Given the description of an element on the screen output the (x, y) to click on. 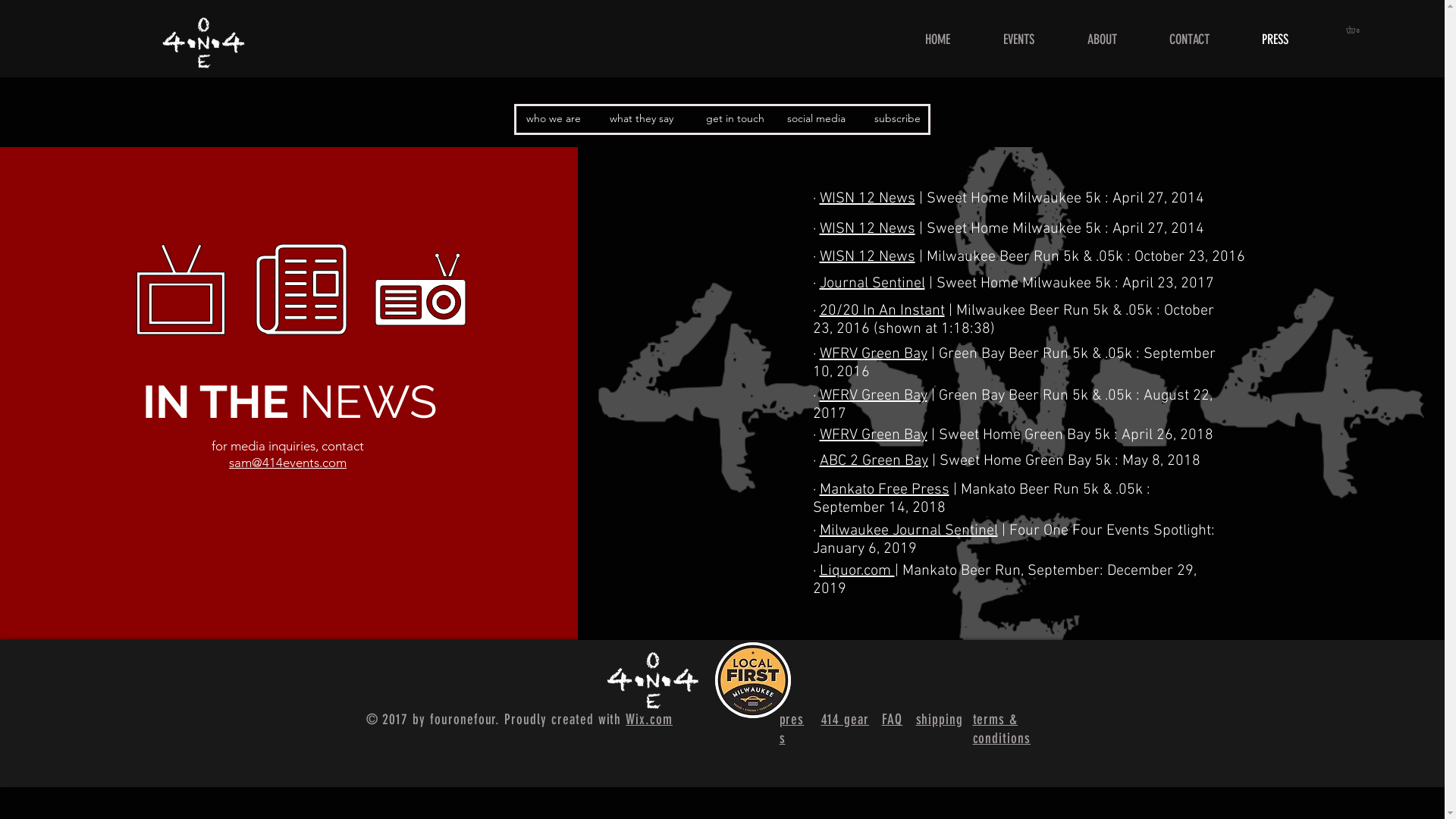
what they say Element type: text (640, 118)
PRESS Element type: text (1274, 39)
414 gear Element type: text (844, 720)
WFRV Green Bay Element type: text (872, 395)
WISN 12 News Element type: text (866, 256)
Mankato Free Press Element type: text (883, 489)
press Element type: text (791, 730)
sam@414events.com Element type: text (287, 462)
get in touch Element type: text (734, 118)
terms & conditions Element type: text (1001, 730)
0 Element type: text (1354, 29)
WISN 12 News Element type: text (866, 228)
CONTACT Element type: text (1188, 39)
HOME Element type: text (937, 39)
social media Element type: text (815, 118)
WFRV Green Bay Element type: text (872, 354)
Journal Sentinel Element type: text (871, 283)
Milwaukee Journal Sentinel Element type: text (908, 530)
ABOUT Element type: text (1101, 39)
WISN 12 News Element type: text (866, 198)
who we are Element type: text (552, 118)
WFRV Green Bay Element type: text (872, 435)
Wix.com Element type: text (648, 719)
20/20 In An Instant Element type: text (881, 310)
Liquor.com  Element type: text (856, 570)
shipping Element type: text (939, 720)
EVENTS Element type: text (1018, 39)
subscribe Element type: text (897, 118)
ABC 2 Green Bay Element type: text (873, 460)
FAQ Element type: text (891, 720)
